Given the description of an element on the screen output the (x, y) to click on. 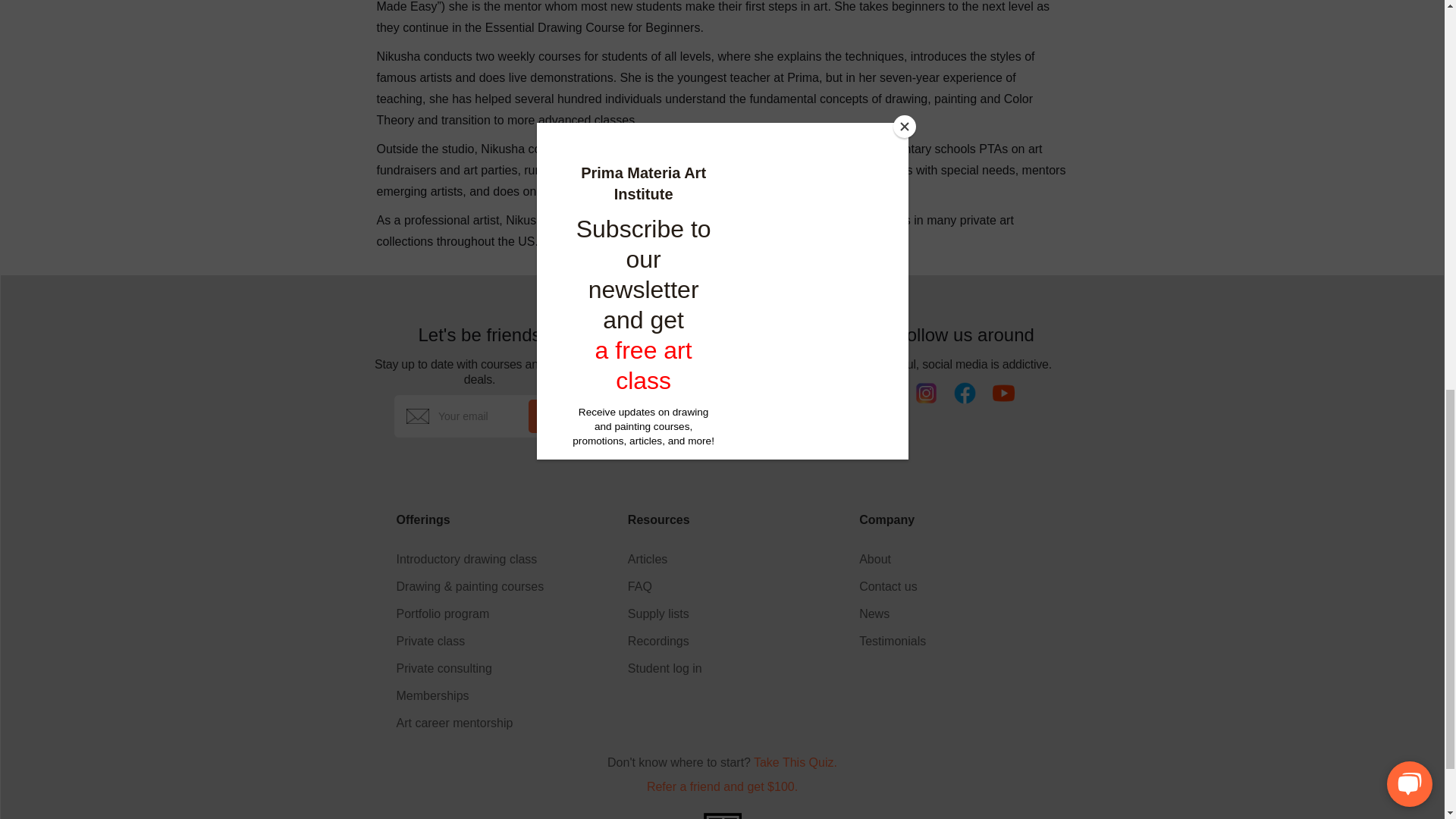
About (892, 559)
Contact us (892, 586)
Student log in (664, 668)
Private class (469, 641)
Private consulting (469, 668)
News (892, 614)
Supply lists (664, 614)
Articles (664, 559)
Portfolio program (469, 614)
Recordings (664, 641)
Introductory drawing class (469, 559)
Memberships (469, 696)
FAQ (664, 586)
Art career mentorship (469, 723)
